Given the description of an element on the screen output the (x, y) to click on. 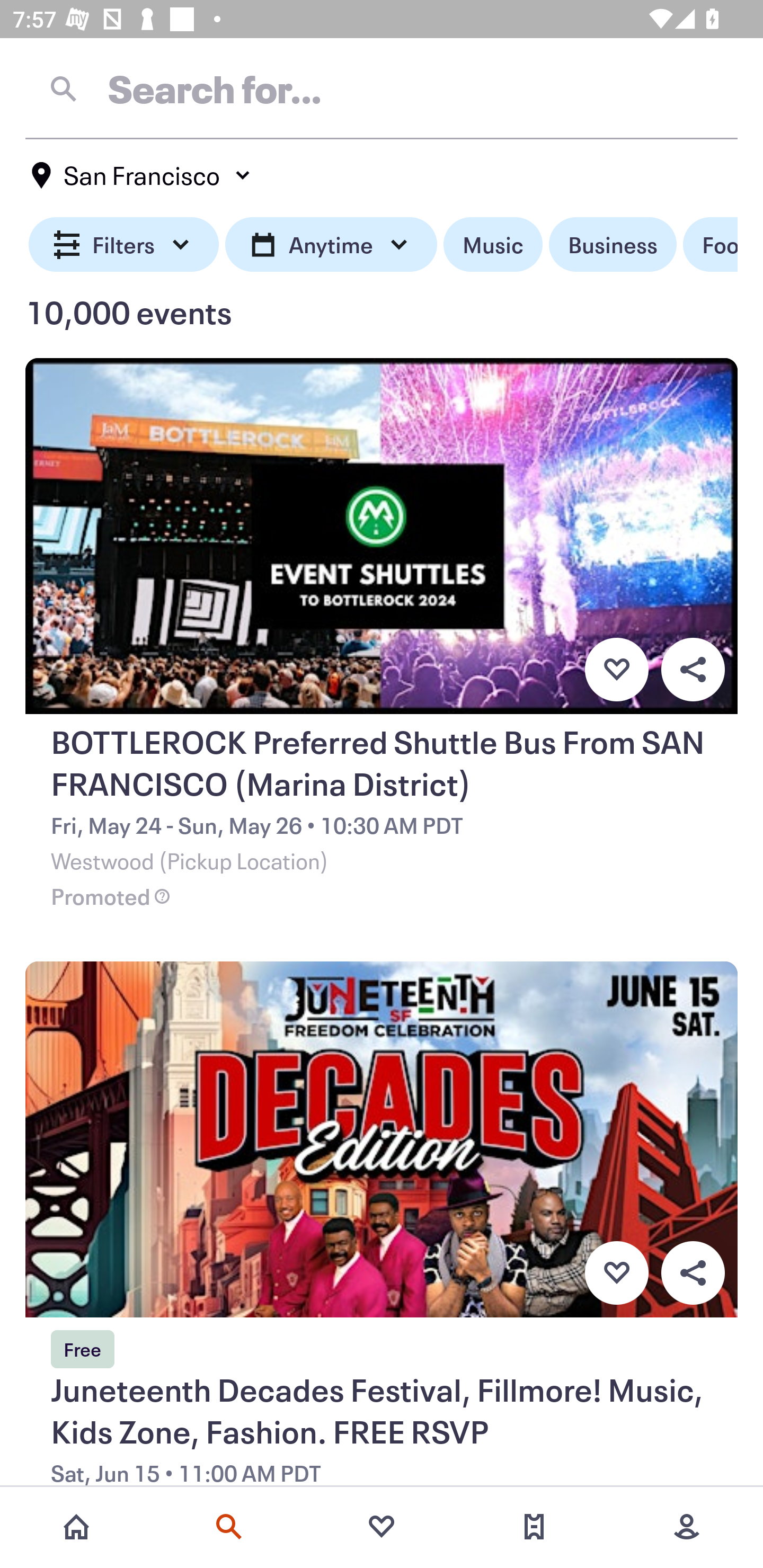
Search for… (381, 88)
San Francisco (141, 175)
Filters (123, 244)
Anytime (331, 244)
Music (492, 244)
Business (612, 244)
Favorite button (616, 669)
Overflow menu button (692, 669)
Favorite button (616, 1272)
Overflow menu button (692, 1272)
Home (76, 1526)
Search events (228, 1526)
Favorites (381, 1526)
Tickets (533, 1526)
More (686, 1526)
